Given the description of an element on the screen output the (x, y) to click on. 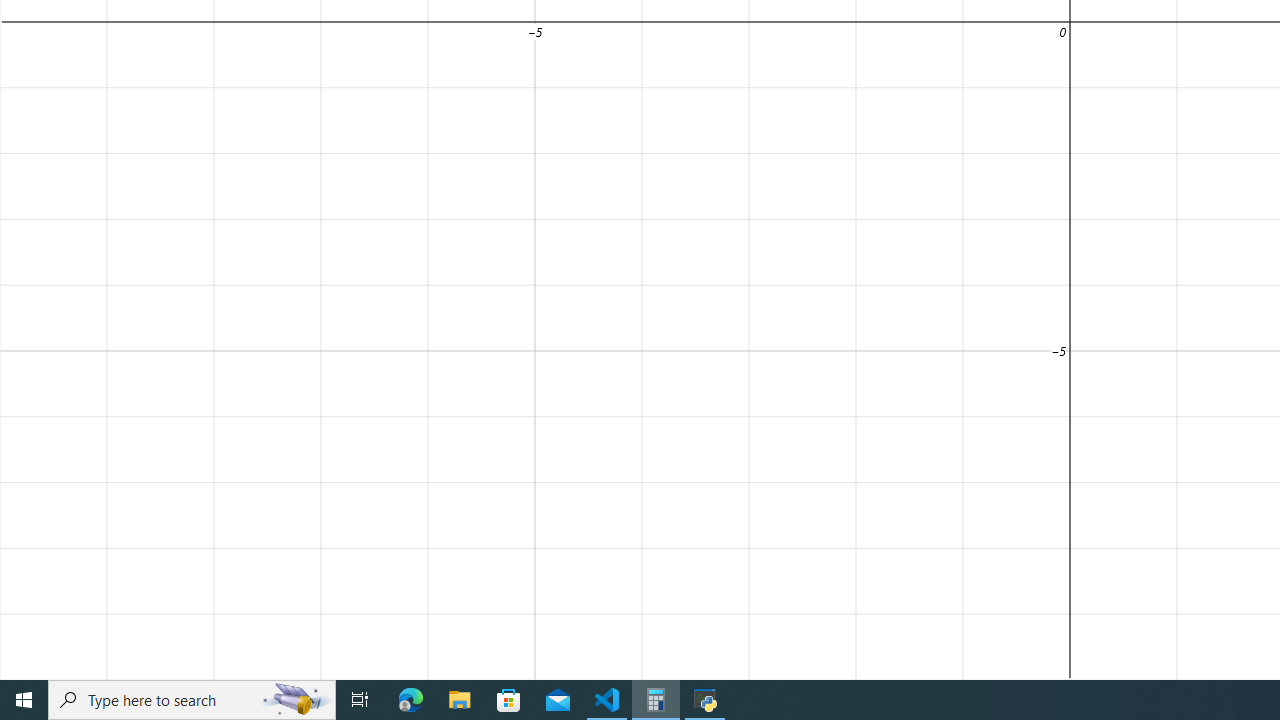
Calculator - 1 running window (656, 699)
